Given the description of an element on the screen output the (x, y) to click on. 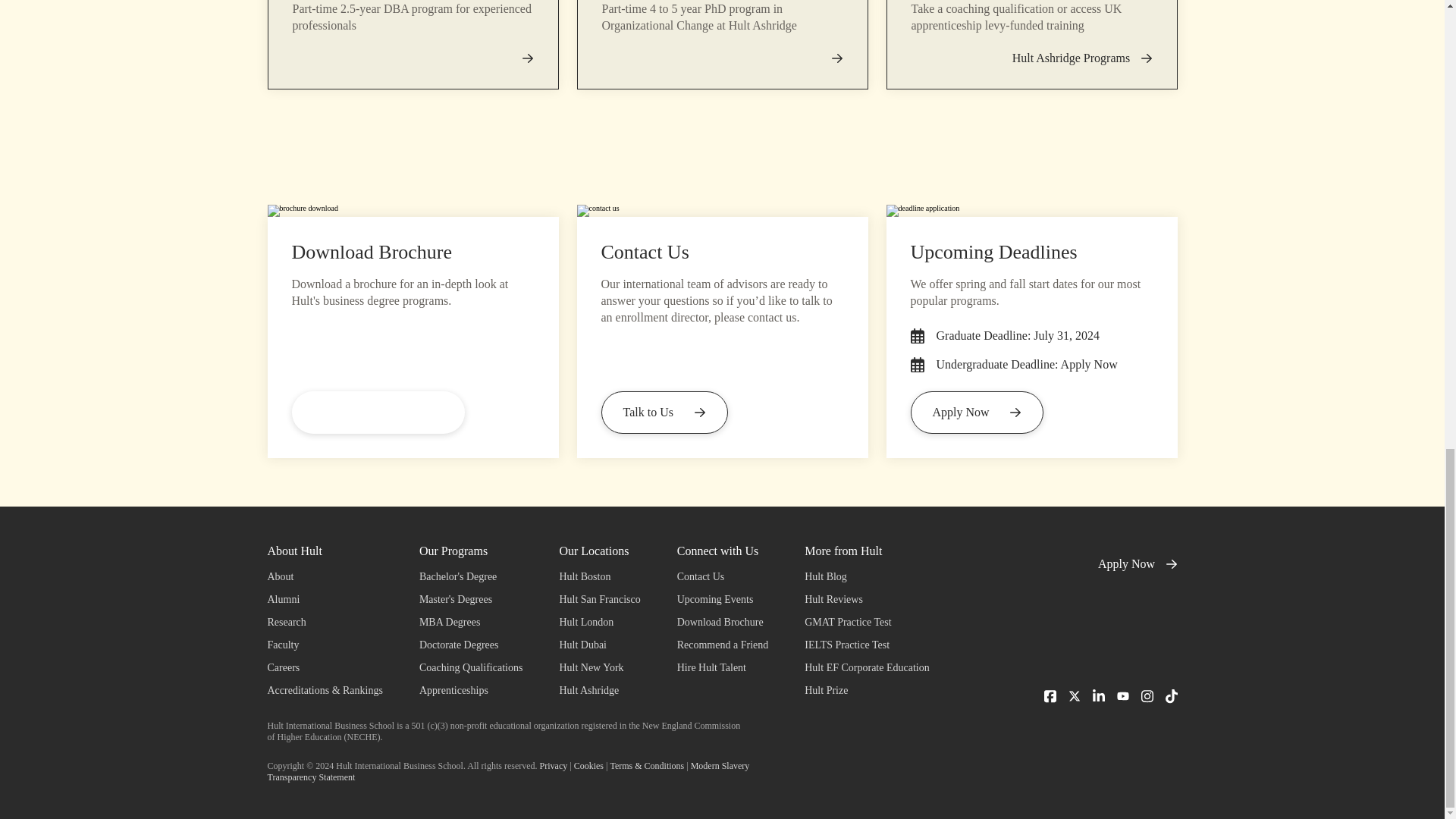
Hult Ashridge Programs (1082, 58)
deadline application (1030, 210)
About (323, 576)
contact us  (721, 210)
Talk to Us (662, 412)
brochure download (411, 210)
Apply Now (976, 412)
Download Brochure (377, 412)
Alumni (323, 599)
